Given the description of an element on the screen output the (x, y) to click on. 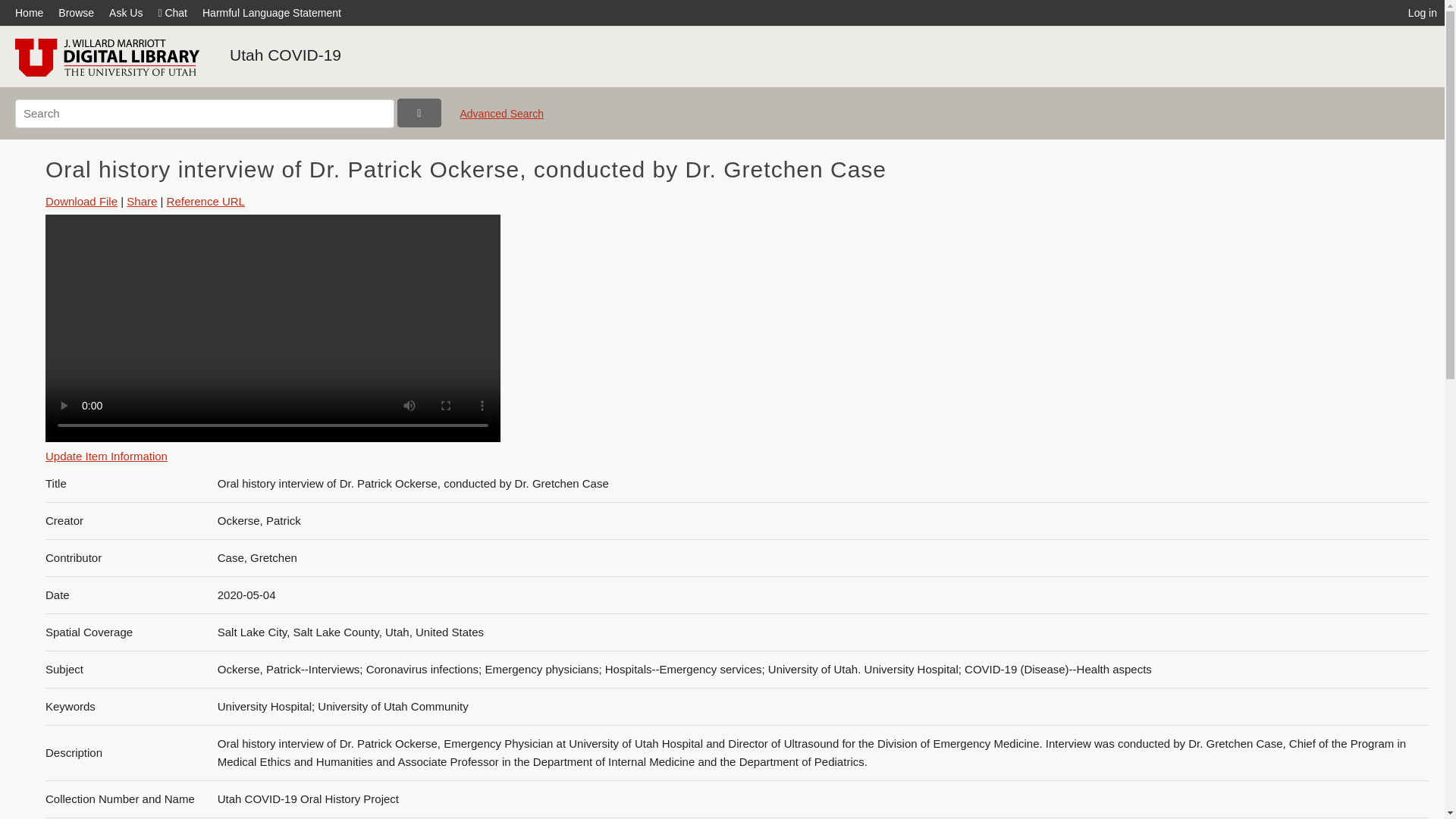
Utah COVID-19 (285, 54)
Share (141, 201)
Chat (172, 12)
Advanced Search (501, 119)
Harmful Language Statement (272, 12)
Browse (75, 12)
Share (141, 201)
Download - 243.54M (81, 201)
Download File (81, 201)
Update Item Information (106, 455)
Reference URL (205, 201)
Ask Us (125, 12)
Reference URL (205, 201)
Home (32, 12)
